Given the description of an element on the screen output the (x, y) to click on. 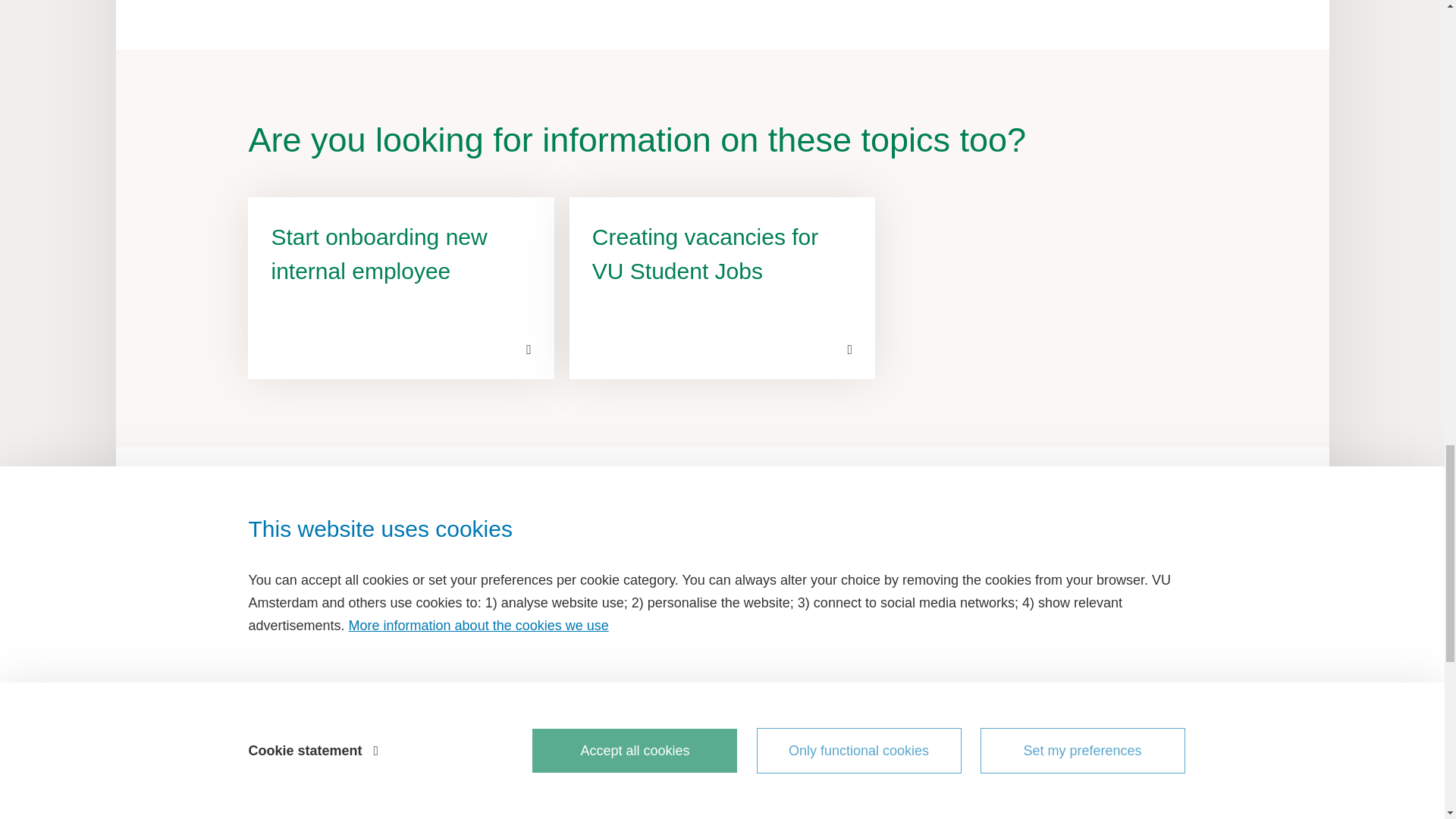
Creating vacancies for VU Student Jobs (722, 288)
Start onboarding new internal employee (400, 288)
020 59 82882 (319, 678)
